Given the description of an element on the screen output the (x, y) to click on. 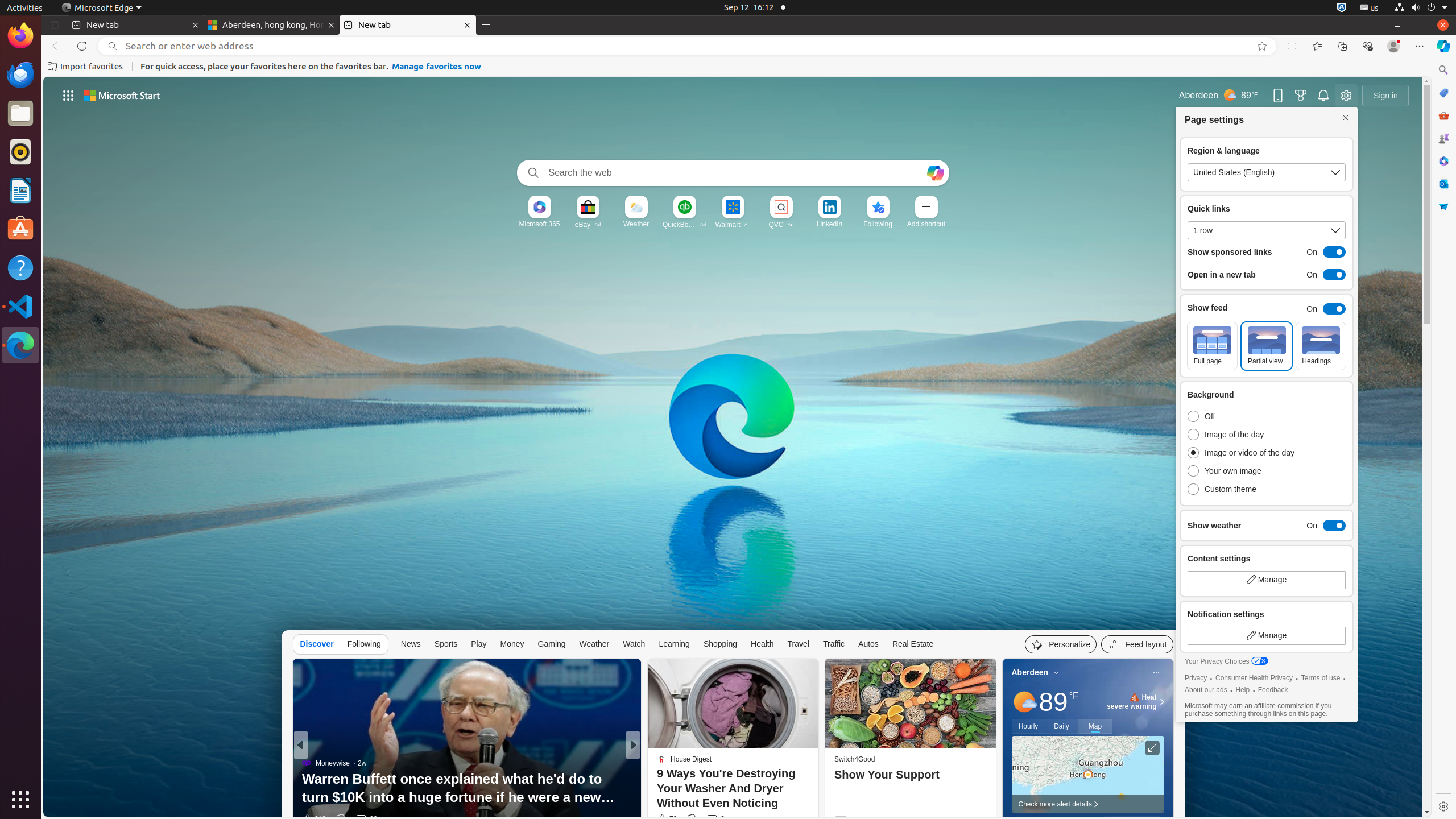
Watch Element type: link (633, 643)
Microsoft 365 Element type: link (539, 223)
ECS Inc. International Element type: link (684, 781)
Daily Element type: list-item (1061, 725)
Microsoft Edge Element type: push-button (20, 344)
